Given the description of an element on the screen output the (x, y) to click on. 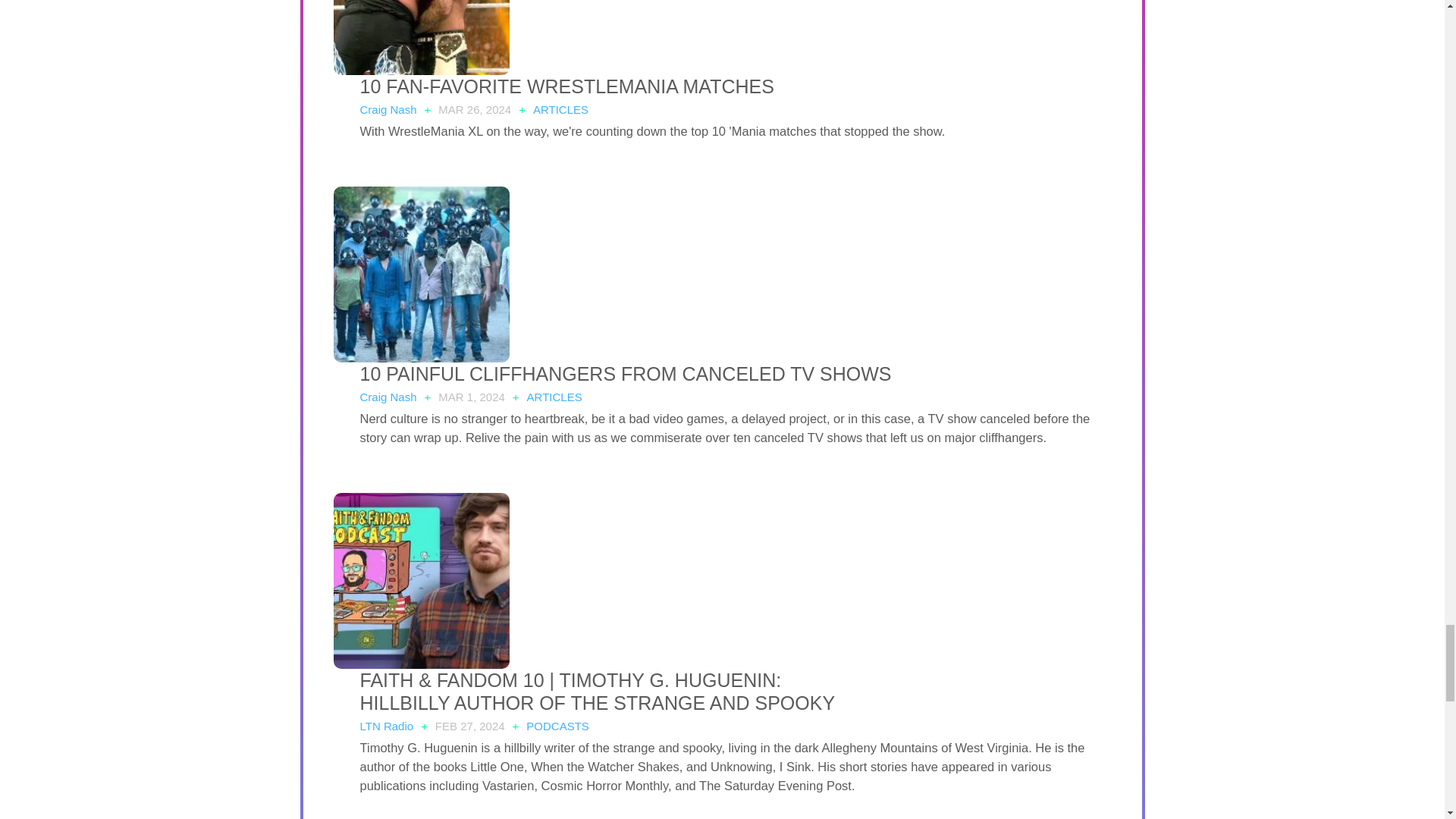
Posts by Craig Nash (387, 397)
10 PAINFUL CLIFFHANGERS FROM CANCELED TV SHOWS (625, 373)
Craig Nash (387, 397)
10 FAN-FAVORITE WRESTLEMANIA MATCHES (566, 86)
Craig Nash (387, 109)
ARTICLES (560, 109)
Posts by Craig Nash (387, 109)
